Given the description of an element on the screen output the (x, y) to click on. 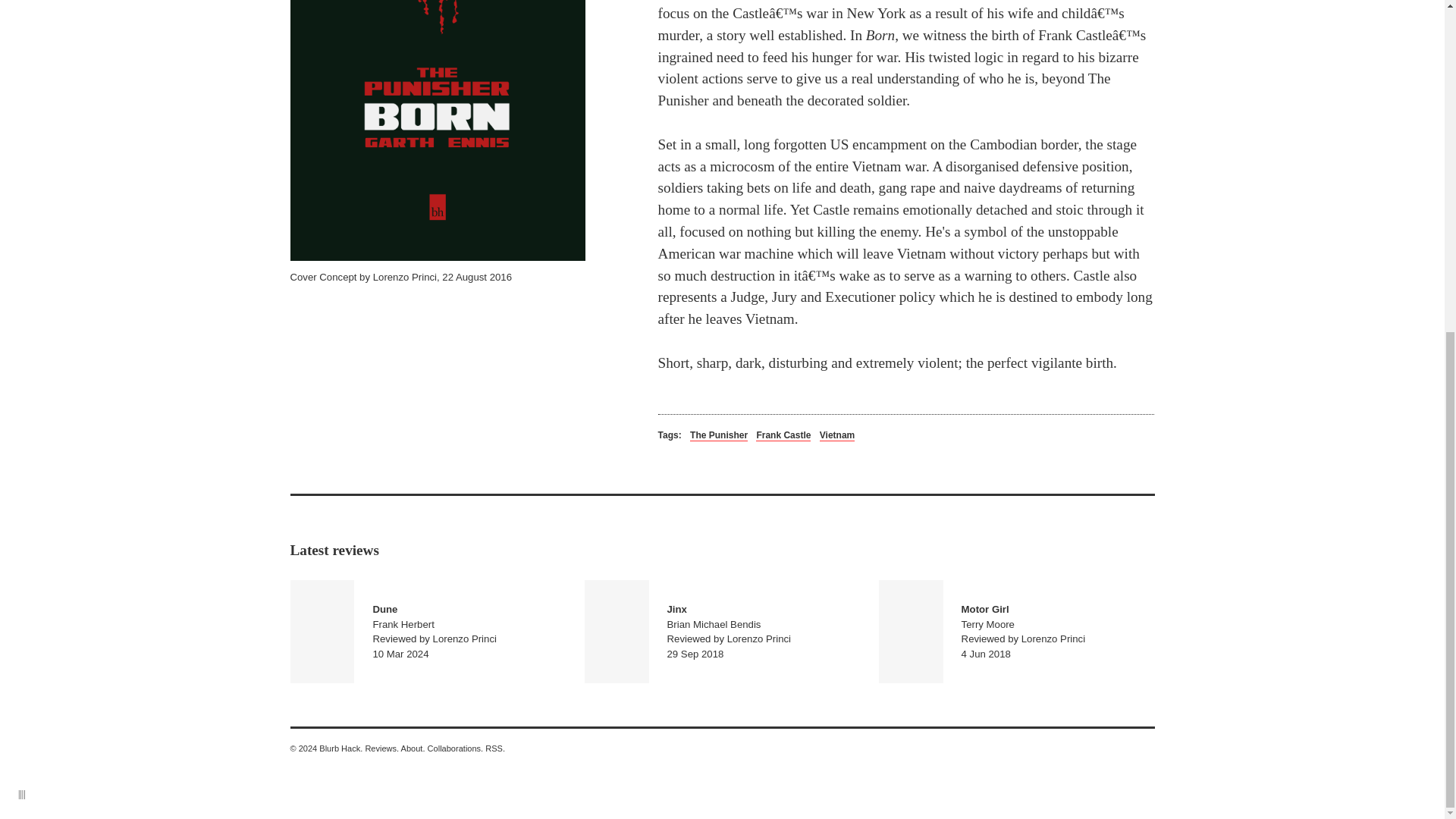
Read reviews related to The Punisher (719, 435)
Vietnam (836, 435)
About. (413, 747)
Read reviews related to  Vietnam (1016, 631)
Read reviews related to  Frank Castle (836, 435)
RSS. (782, 435)
Frank Castle (427, 631)
